Given the description of an element on the screen output the (x, y) to click on. 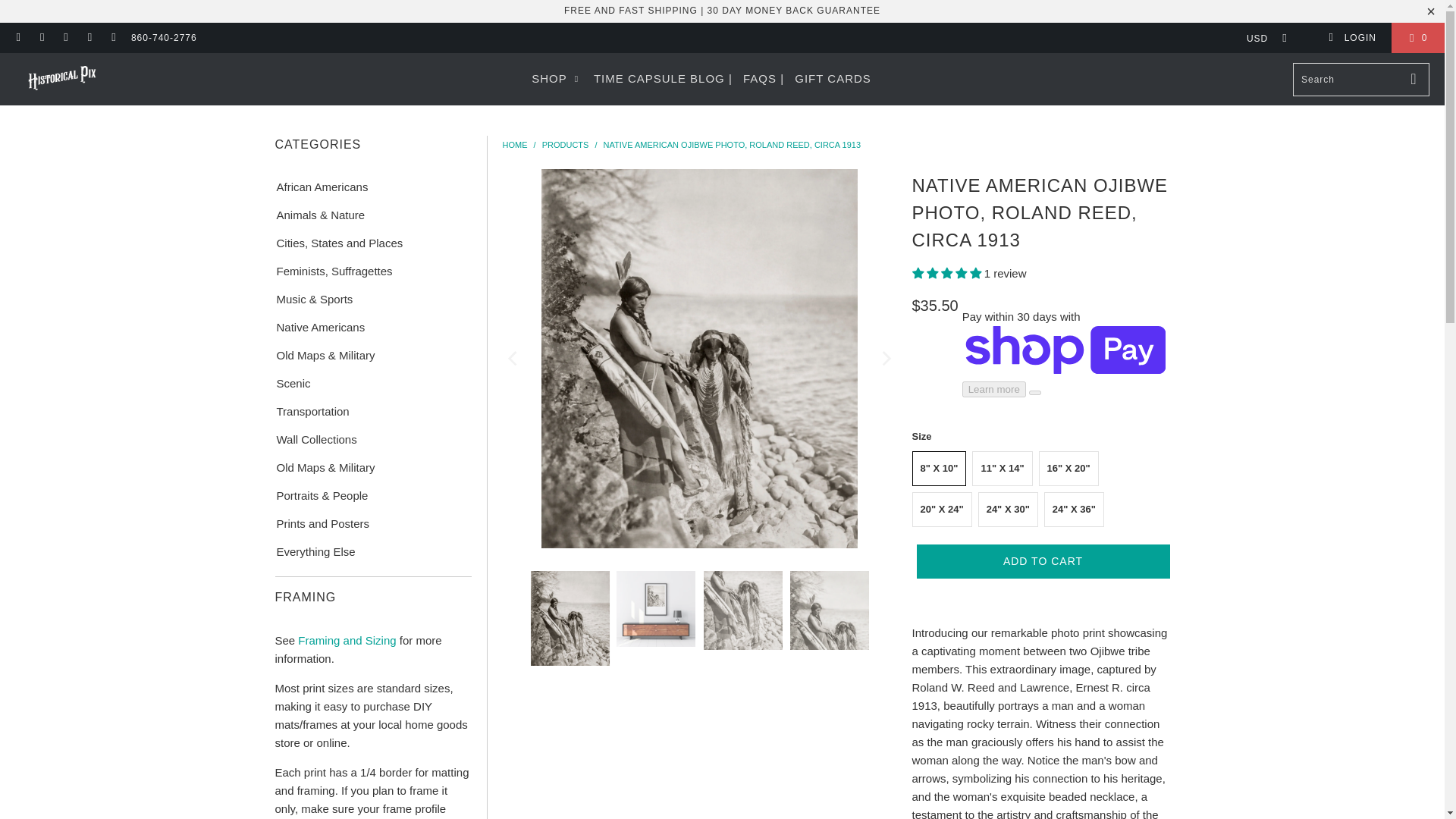
Historical Pix on Facebook (17, 37)
USD (1262, 37)
Products (565, 144)
Framing and Sizing (345, 640)
860-740-2776 (163, 37)
My Account  (1351, 37)
Historical Pix (62, 78)
Historical Pix on YouTube (41, 37)
Historical Pix on Instagram (89, 37)
Historical Pix on Pinterest (65, 37)
Email Historical Pix (112, 37)
Historical Pix (514, 144)
